Given the description of an element on the screen output the (x, y) to click on. 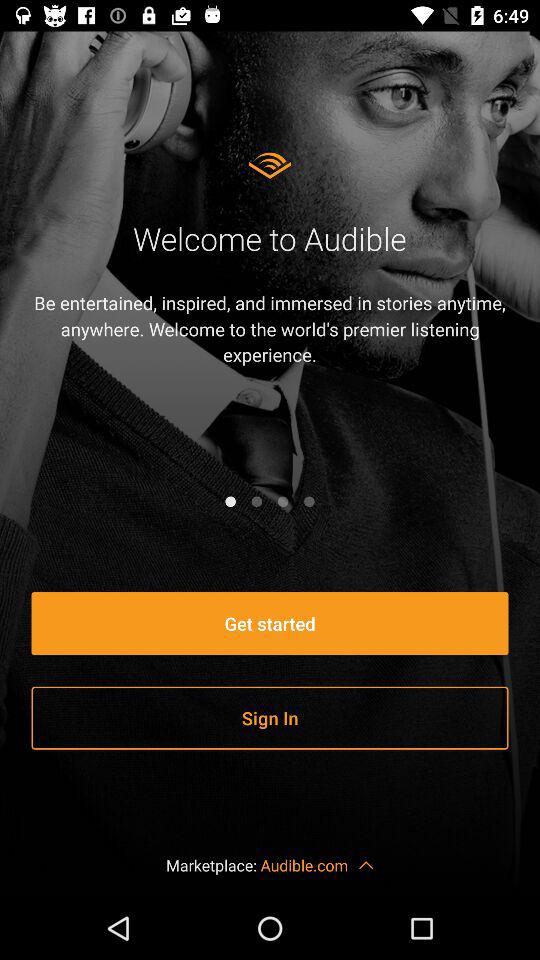
right swipe (256, 501)
